Given the description of an element on the screen output the (x, y) to click on. 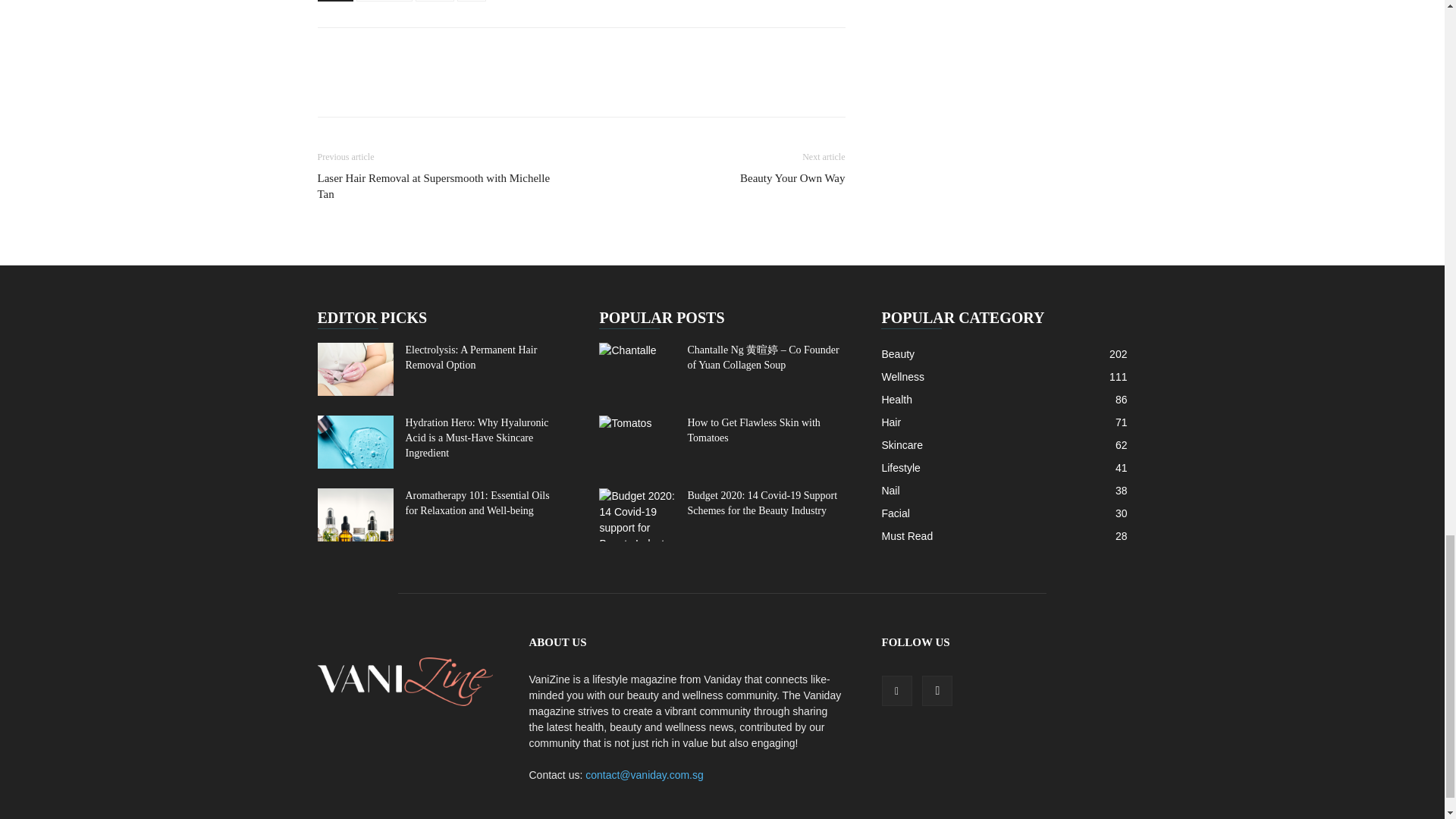
Electrolysis: A Permanent Hair Removal Option (470, 357)
ambassador (384, 0)
Electrolysis: A Permanent Hair Removal Option (355, 369)
Beauty (434, 0)
hair (471, 0)
